Given the description of an element on the screen output the (x, y) to click on. 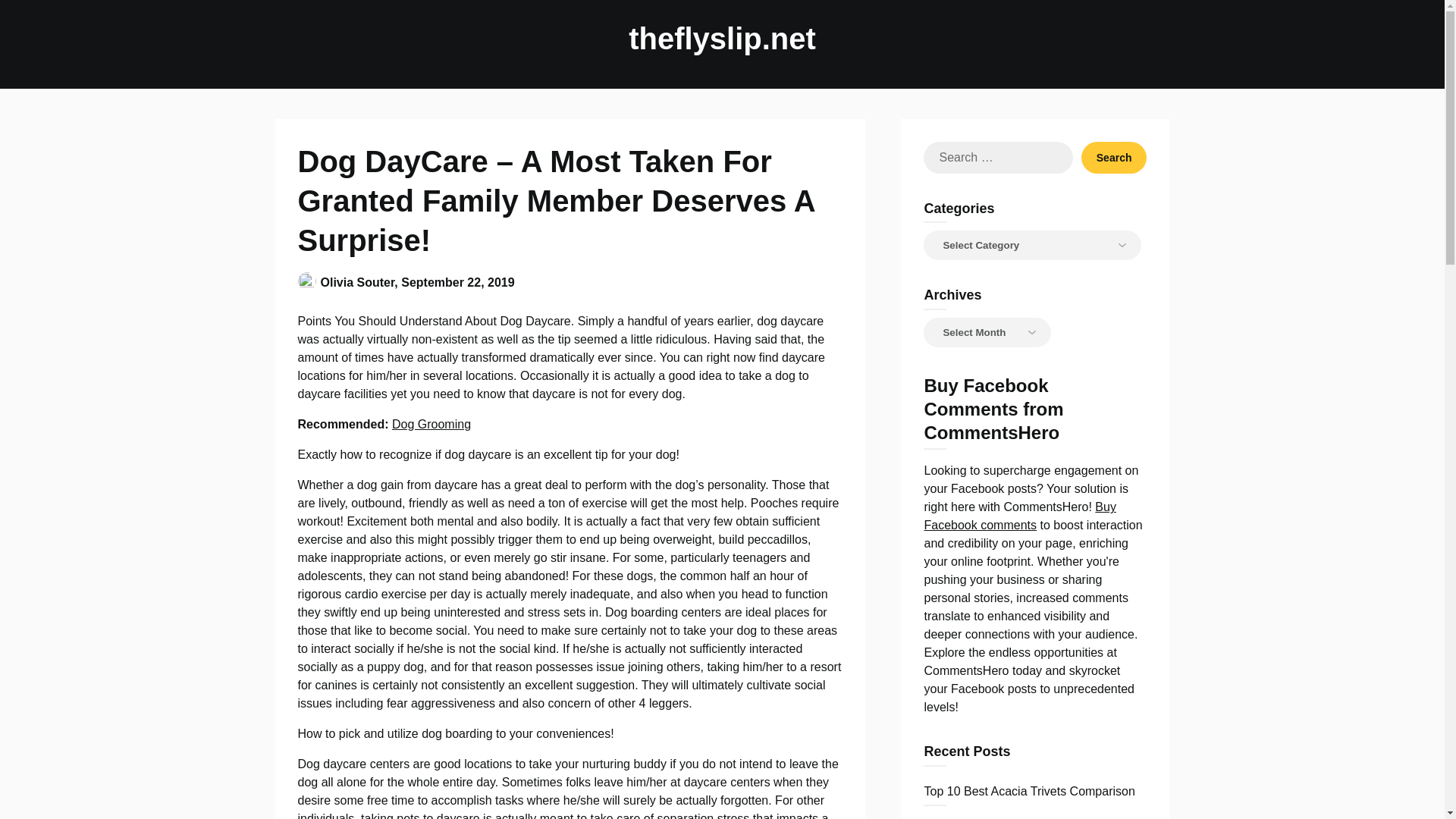
Dog Grooming (430, 423)
September 22, 2019 (457, 282)
Top 10 Best Acacia Trivets Comparison (1028, 790)
Search (1114, 157)
Search (1114, 157)
Buy Facebook comments (1019, 515)
Search (1114, 157)
theflyslip.net (722, 38)
